Given the description of an element on the screen output the (x, y) to click on. 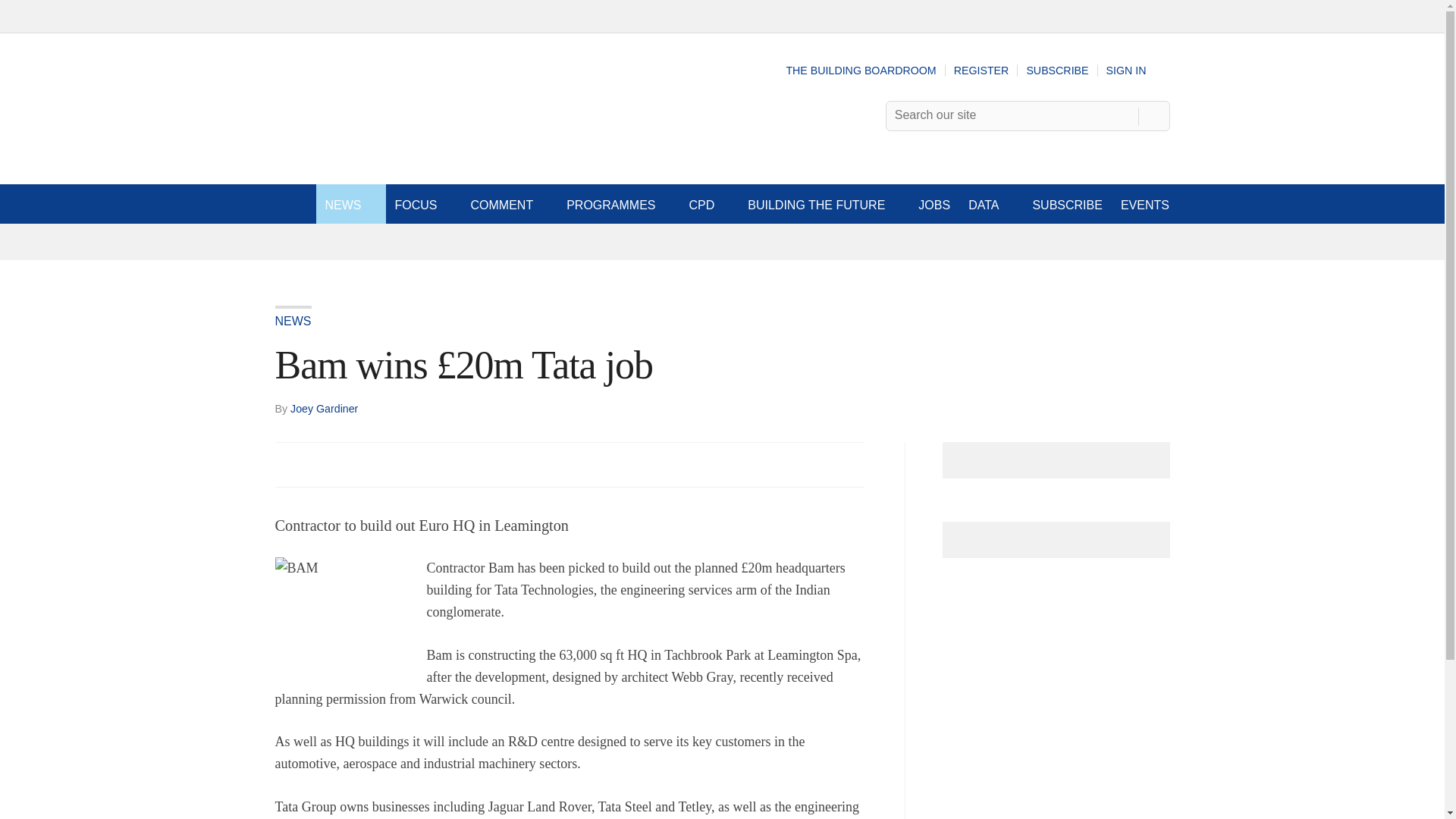
No comments (840, 473)
THE BUILDING BOARDROOM (861, 70)
SUBSCRIBE (1056, 70)
REGISTER (981, 70)
Insert Logo text (356, 152)
Email this article (386, 463)
Share this on Twitter (320, 463)
SEARCH (1153, 115)
Share this on Facebook (288, 463)
SIGN IN (1138, 70)
